Given the description of an element on the screen output the (x, y) to click on. 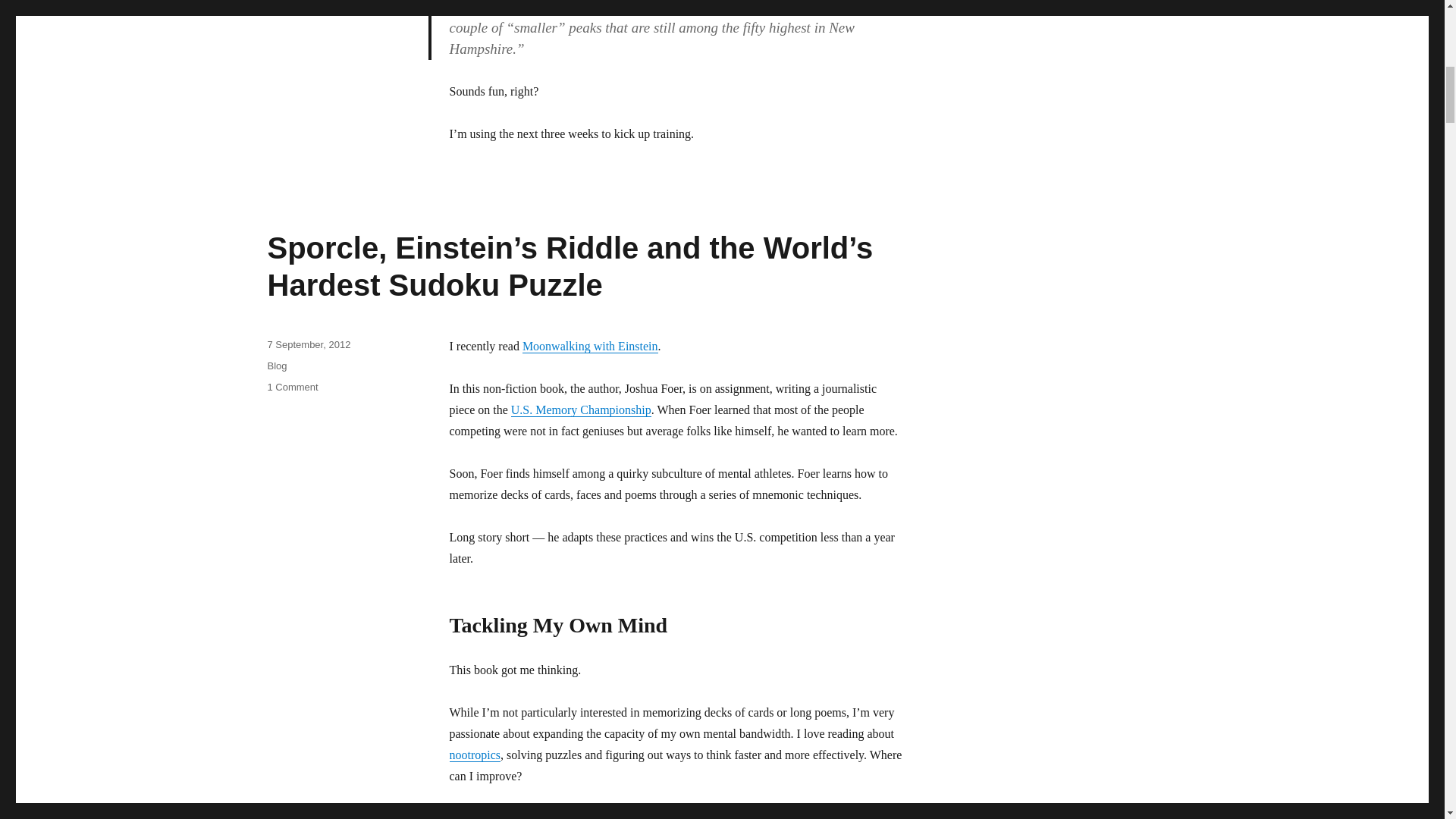
Blog (276, 365)
Moonwalking with Einstein (590, 345)
7 September, 2012 (308, 344)
U.S. Memory Championship (580, 409)
nootropics (474, 754)
